Given the description of an element on the screen output the (x, y) to click on. 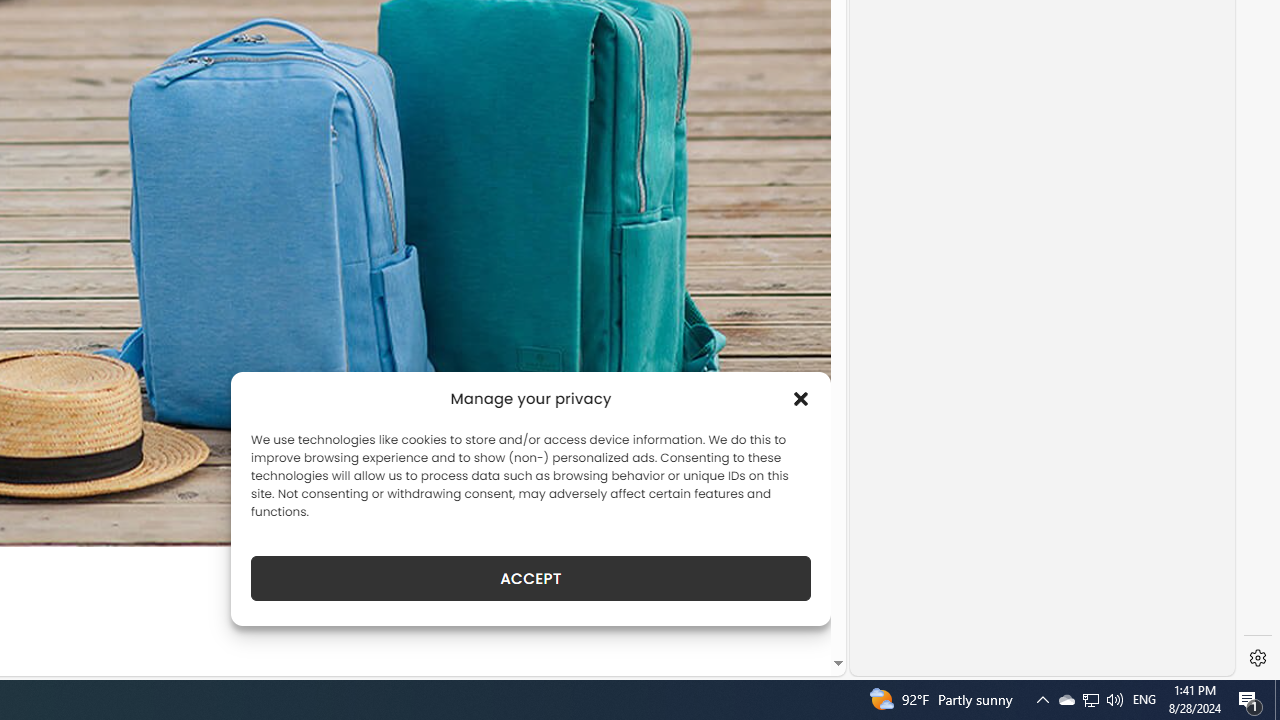
Settings (1258, 658)
ACCEPT (530, 578)
Class: cmplz-close (801, 398)
